Given the description of an element on the screen output the (x, y) to click on. 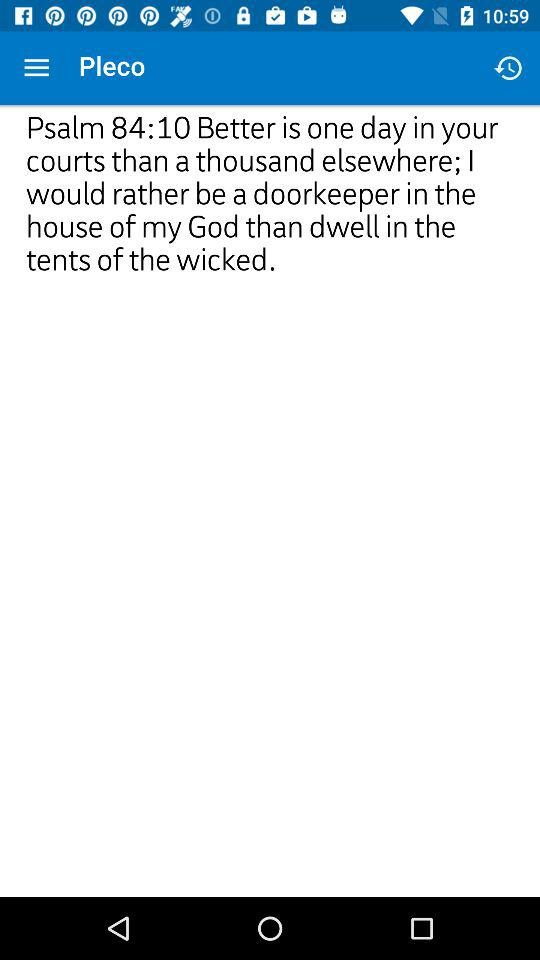
turn on the item at the top right corner (508, 67)
